Given the description of an element on the screen output the (x, y) to click on. 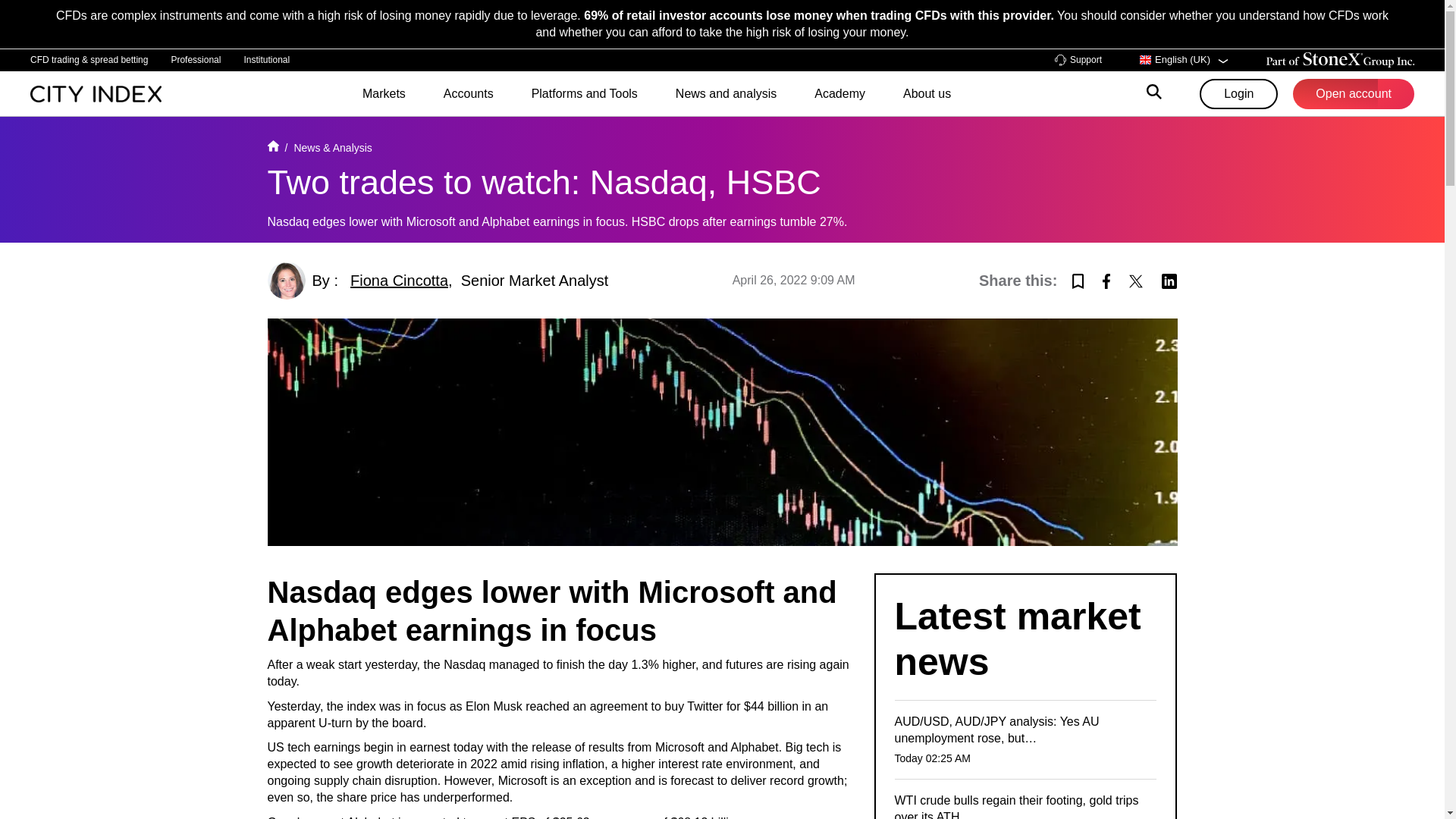
Home (272, 147)
Share to X (1135, 279)
Institutional (266, 59)
search (1154, 93)
Support (1078, 60)
Share to LinkedIn (1168, 279)
Professional (195, 59)
Fiona Cincotta (399, 280)
Home (95, 93)
News and Analysis (332, 147)
